Given the description of an element on the screen output the (x, y) to click on. 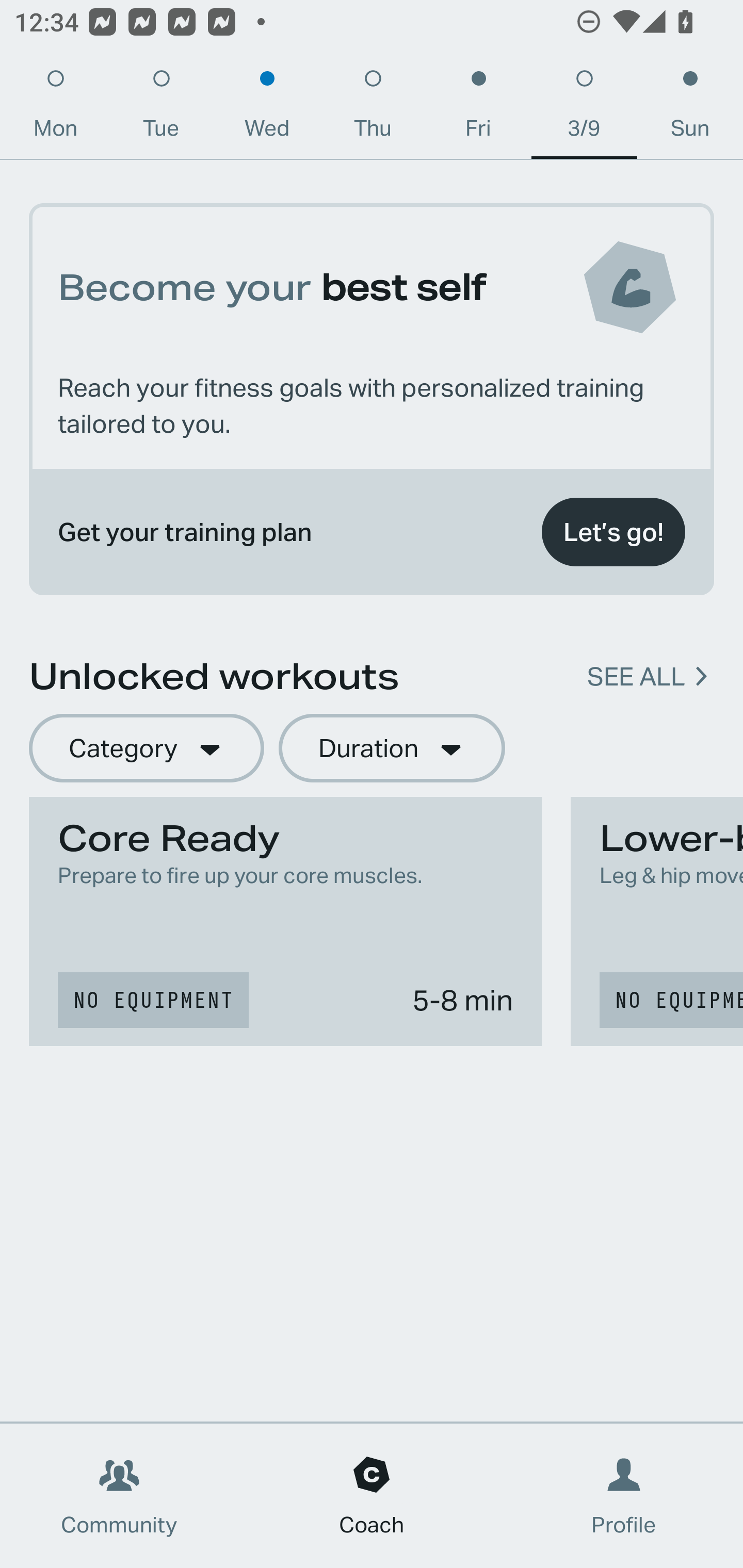
Mon (55, 108)
Tue (160, 108)
Wed (266, 108)
Thu (372, 108)
Fri (478, 108)
3/9 (584, 108)
Sun (690, 108)
Let’s go! (613, 532)
SEE ALL (635, 676)
Category (146, 748)
Duration (391, 748)
Community (119, 1495)
Profile (624, 1495)
